Given the description of an element on the screen output the (x, y) to click on. 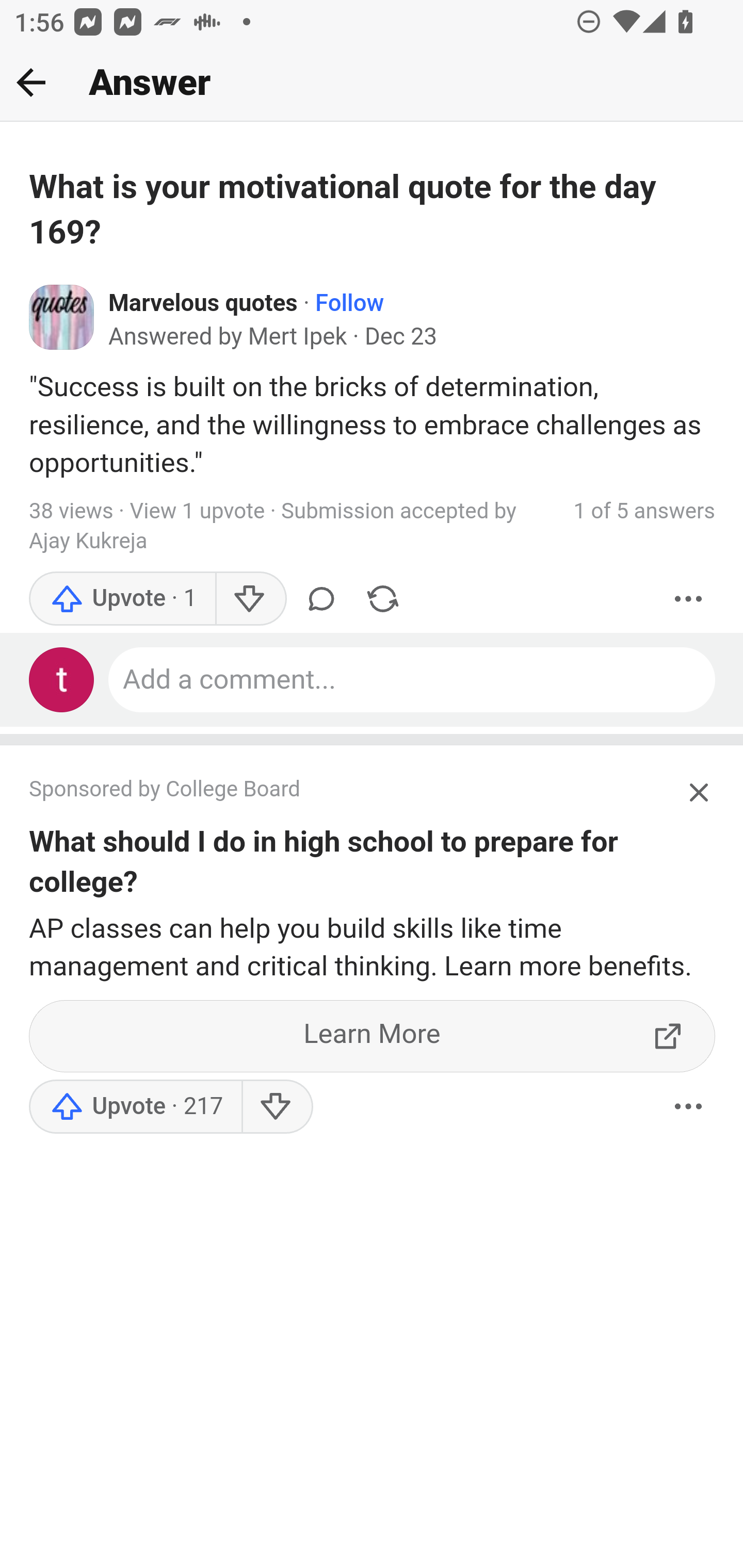
Back Answer (371, 82)
Back (30, 82)
What is your motivational quote for the day 169? (372, 210)
Icon for Marvelous quotes (61, 317)
Marvelous quotes (202, 303)
Follow (349, 303)
Mert Ipek (297, 336)
Dec 23 (400, 336)
View 1 upvote (196, 511)
1 of 5 answers (644, 510)
Ajay Kukreja (87, 542)
Upvote (122, 598)
Downvote (249, 598)
Comment (321, 598)
Share (382, 598)
More (688, 598)
Profile photo for Test Appium (61, 679)
Add a comment... (412, 679)
Hide (699, 792)
Sponsored by College Board (352, 790)
Learn More ExternalLink (372, 1035)
Upvote (135, 1105)
Downvote (277, 1105)
More (688, 1105)
